Given the description of an element on the screen output the (x, y) to click on. 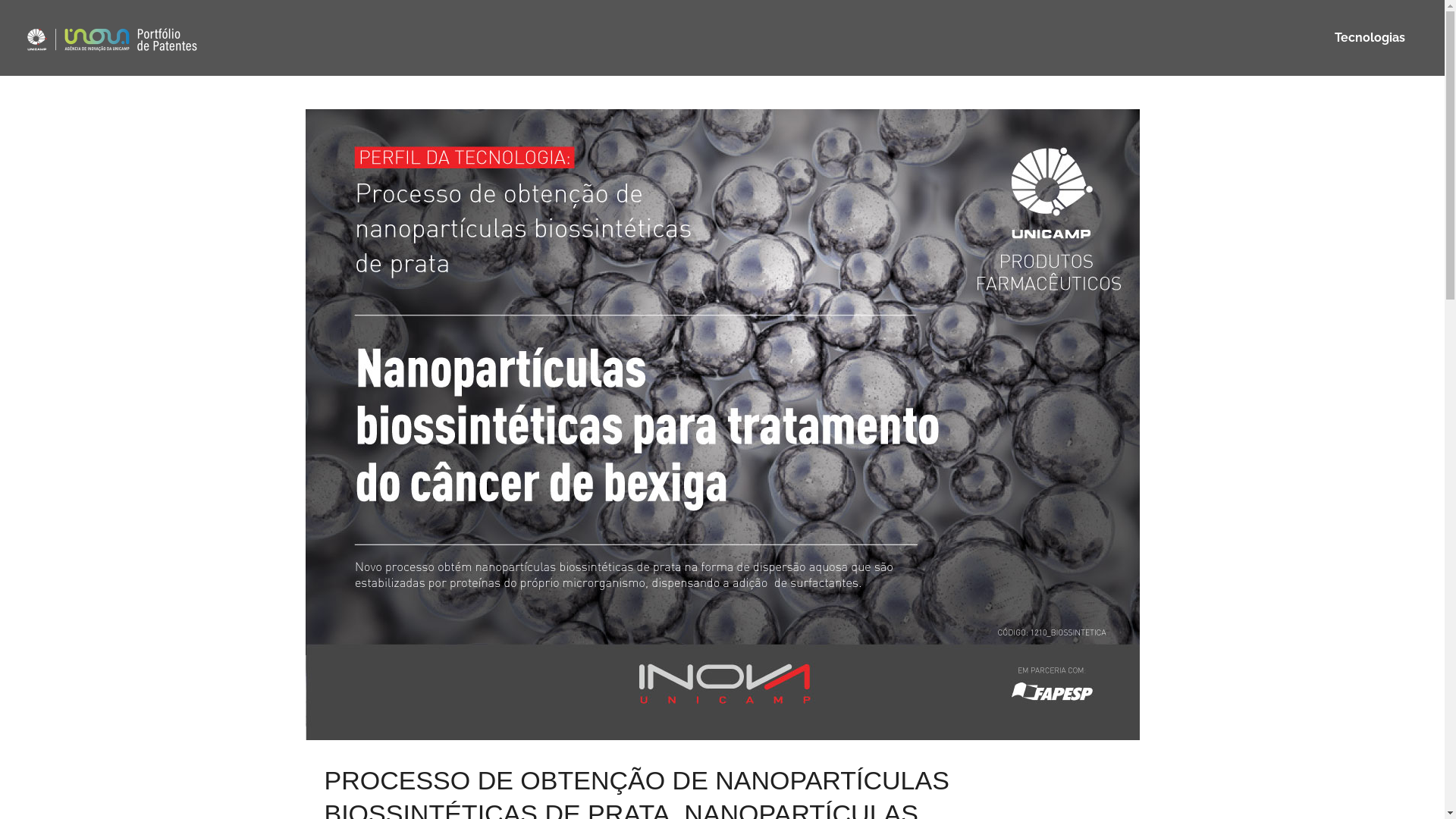
Tecnologias Element type: text (1369, 37)
1210_BIOSSINTETICA-capa01 Element type: hover (721, 424)
